Given the description of an element on the screen output the (x, y) to click on. 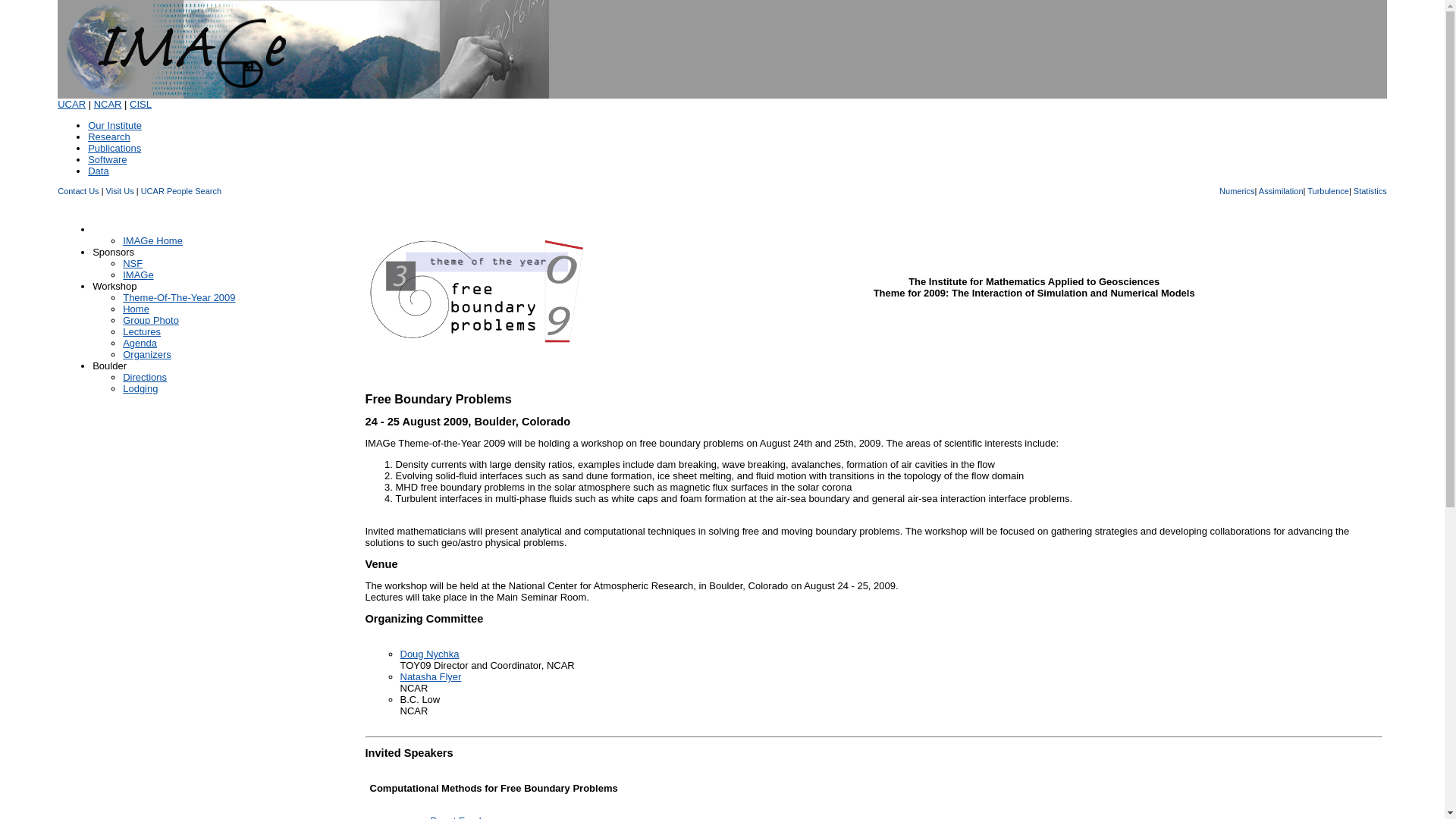
Visit Us (119, 190)
Group Photo (150, 319)
Theme-Of-The-Year 2009 (178, 297)
Contact Us (78, 190)
UCAR (71, 103)
Numerics (1236, 190)
Doug Nychka (430, 654)
Bengt Fornberg (464, 816)
Software (106, 159)
NSF (132, 263)
